Given the description of an element on the screen output the (x, y) to click on. 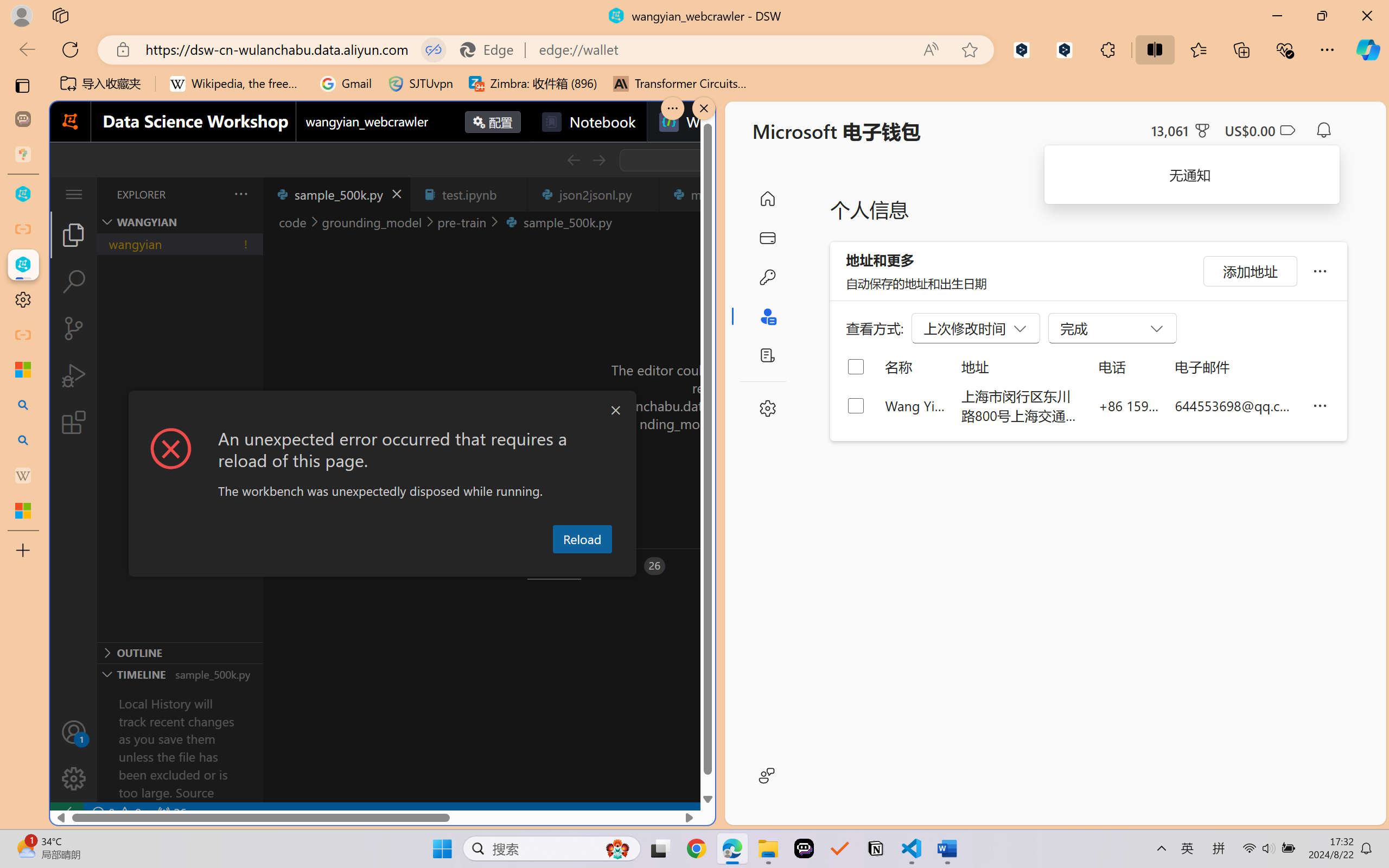
Notebook (588, 121)
Views and More Actions... (240, 193)
test.ipynb (468, 194)
sample_500k.py (336, 194)
Microsoft Cashback - US$0.00 (1259, 129)
